Given the description of an element on the screen output the (x, y) to click on. 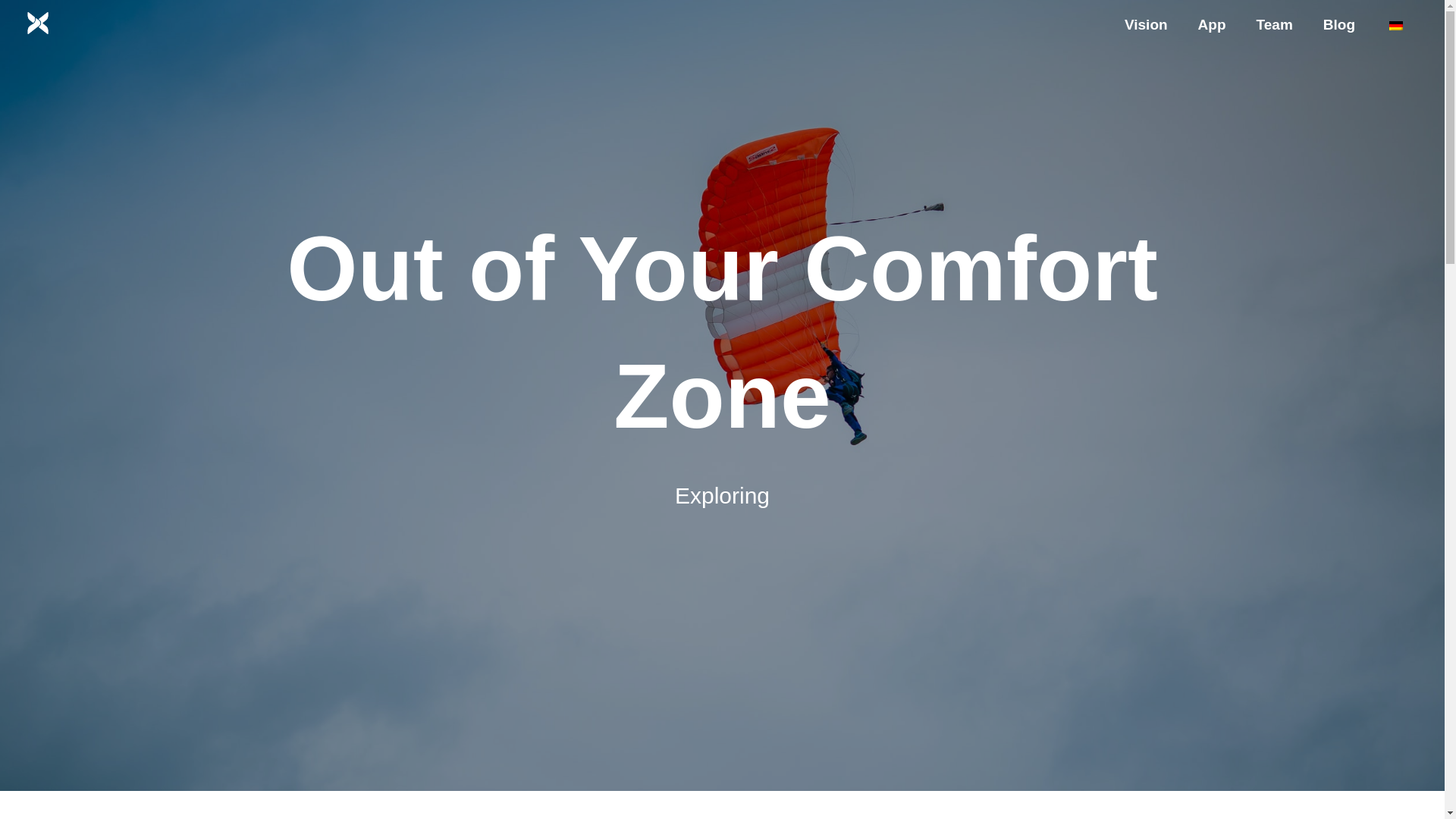
Blog (1338, 24)
Vision (1145, 24)
App (1211, 24)
Deutsch (1396, 25)
Team (1274, 24)
